Given the description of an element on the screen output the (x, y) to click on. 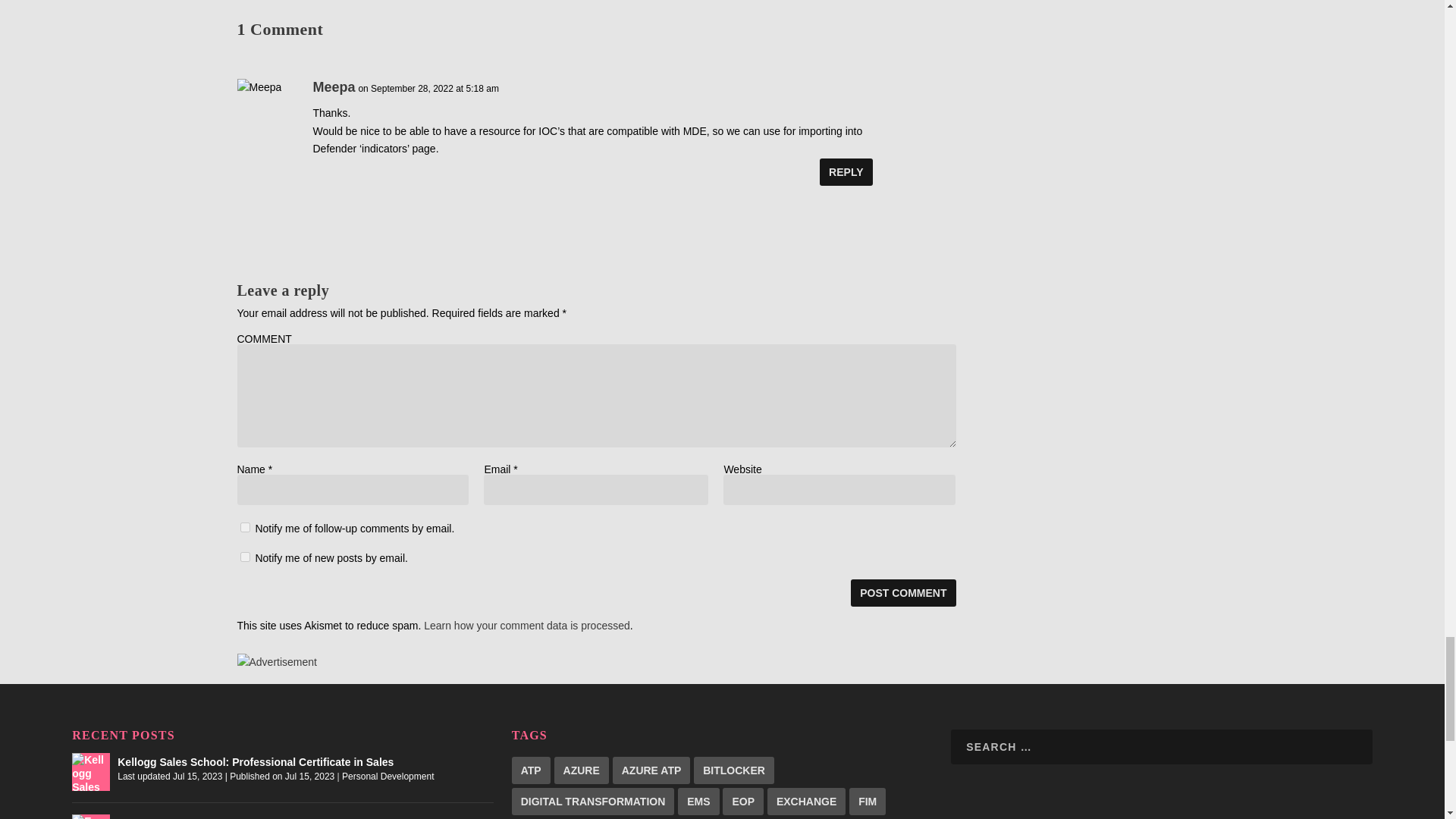
Post Comment (902, 592)
subscribe (244, 527)
subscribe (244, 556)
